Given the description of an element on the screen output the (x, y) to click on. 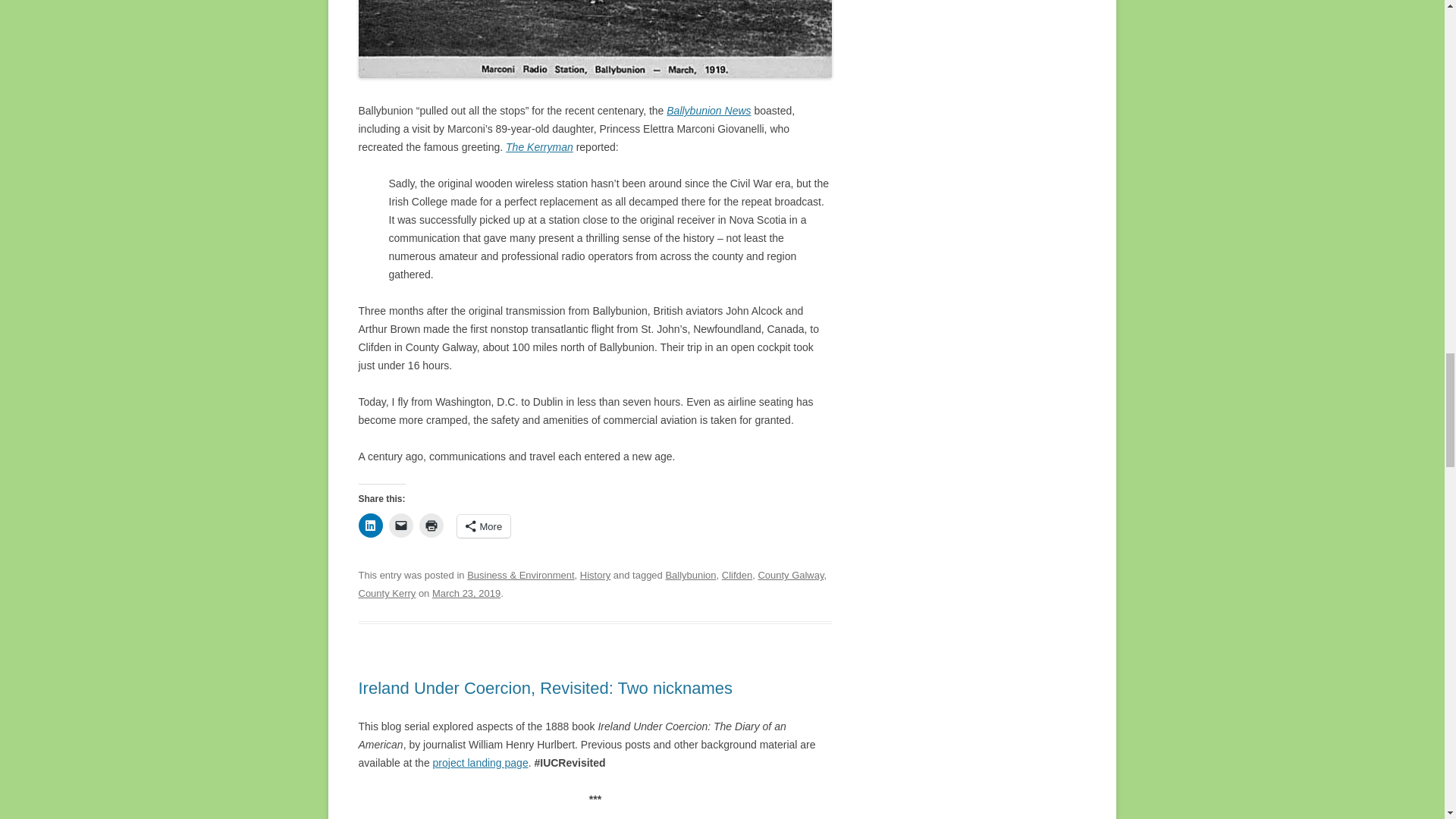
Click to email a link to a friend (400, 525)
6:50 PM (466, 593)
Click to print (430, 525)
Click to share on LinkedIn (369, 525)
The Kerryman (539, 146)
Ballybunion News (708, 110)
